Given the description of an element on the screen output the (x, y) to click on. 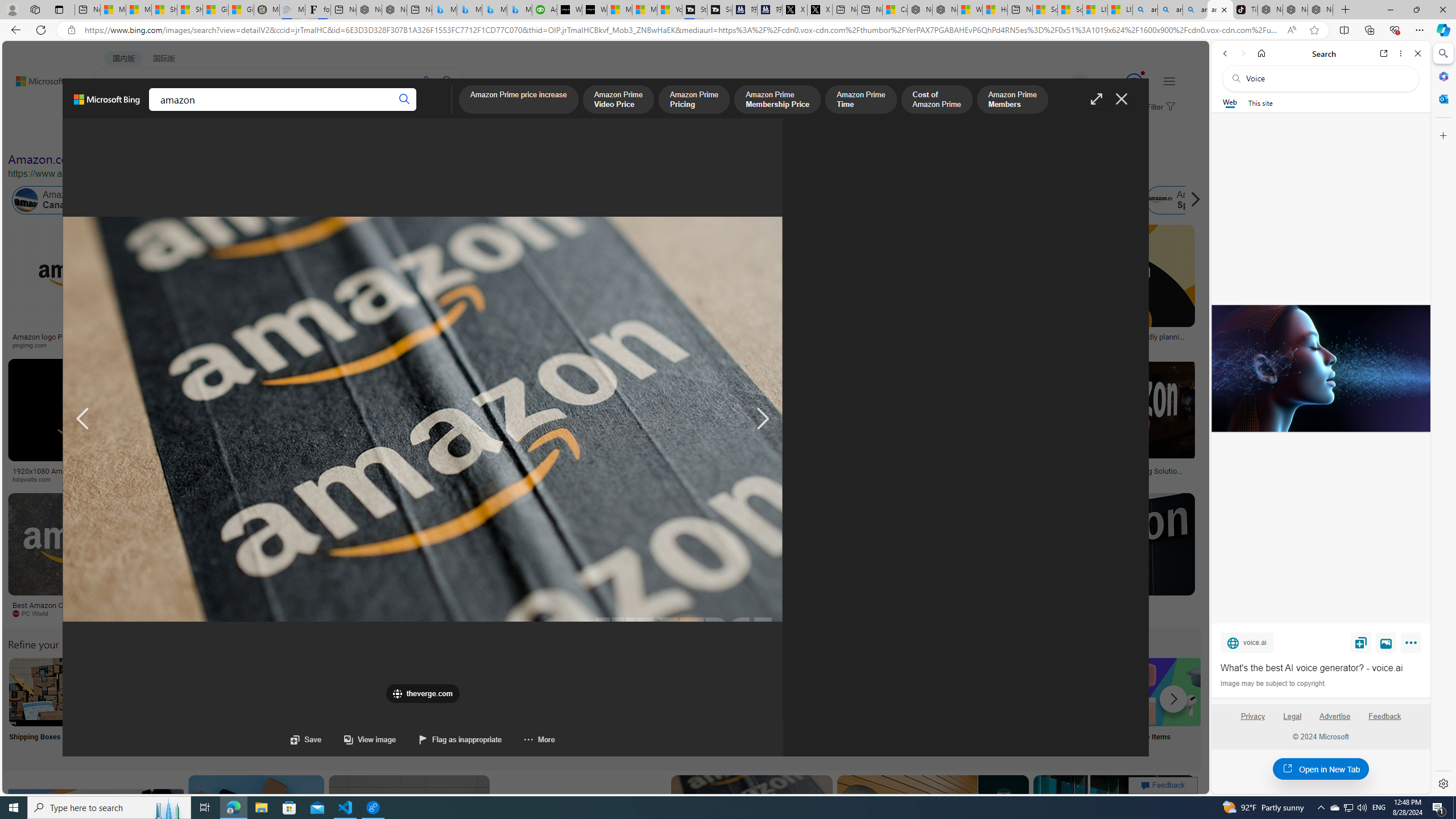
Color (173, 135)
Amazon Prime Time (860, 100)
Amazon Online Shopping Search Online Shopping Search (118, 706)
Clip Art (192, 706)
Listen: What's next for Amazon? (403, 336)
Dallas Morning News (791, 479)
Side bar (1443, 418)
thewrap.com (470, 612)
favicon (398, 693)
Date (336, 135)
